Given the description of an element on the screen output the (x, y) to click on. 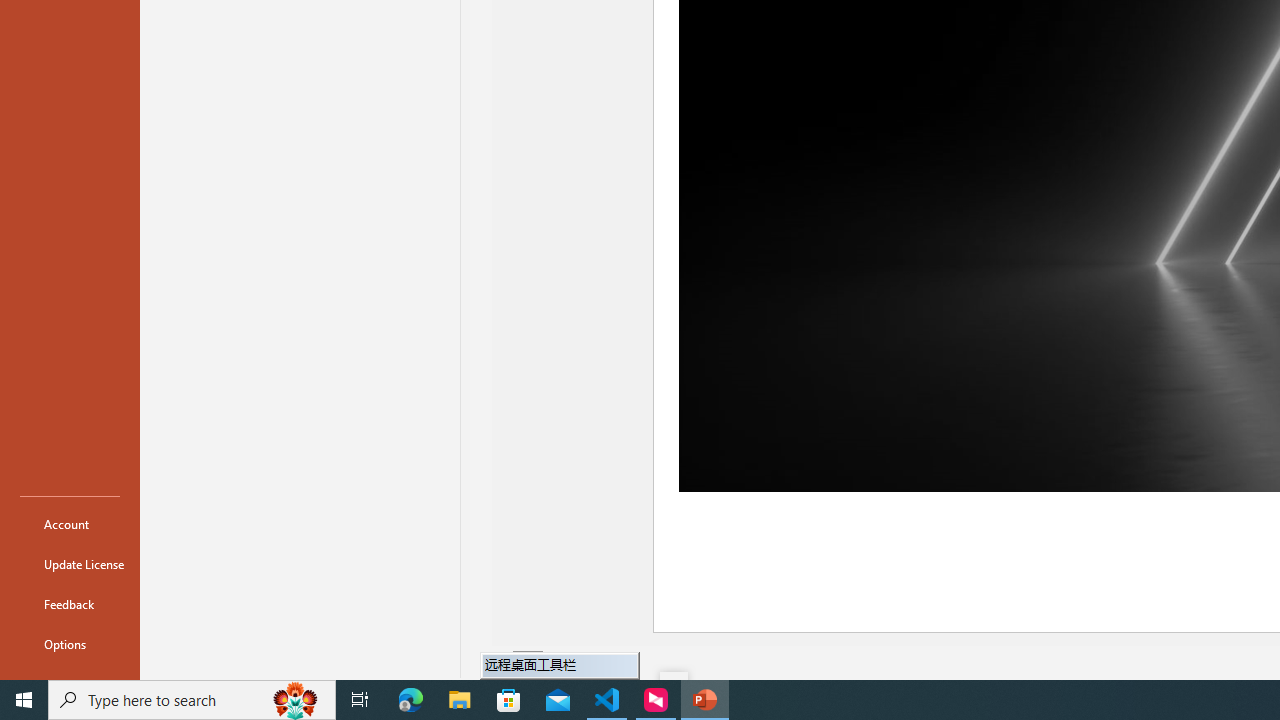
Update License (69, 563)
Next Page (579, 662)
Feedback (69, 603)
Previous Page (502, 662)
Current Page (527, 662)
Account (69, 523)
Options (69, 643)
